Given the description of an element on the screen output the (x, y) to click on. 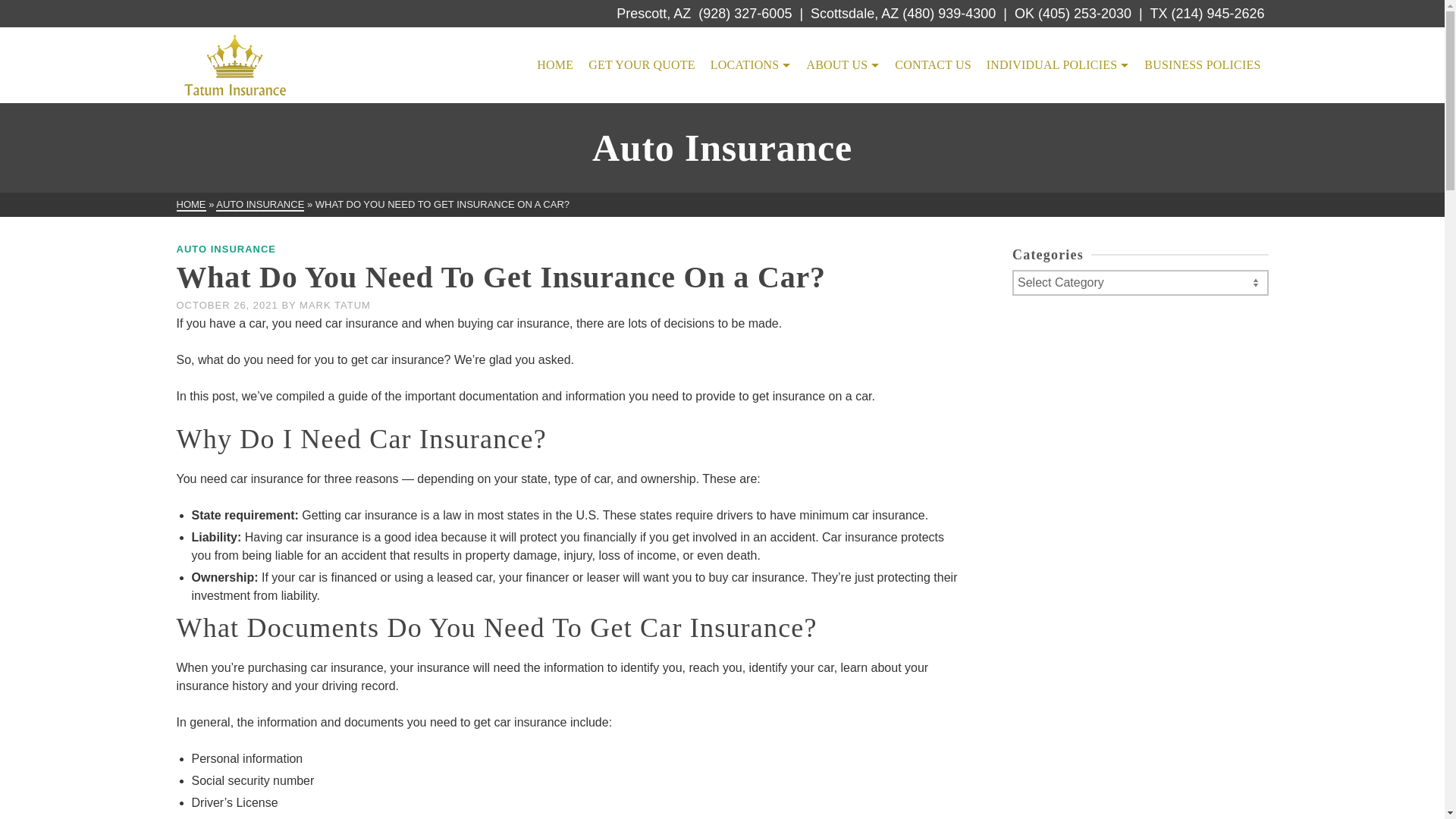
HOME (554, 64)
ABOUT US (841, 64)
HOME (190, 205)
GET YOUR QUOTE (641, 64)
INDIVIDUAL POLICIES (1057, 64)
CONTACT US (932, 64)
AUTO INSURANCE (259, 205)
LOCATIONS (751, 64)
MARK TATUM (335, 305)
AUTO INSURANCE (226, 248)
BUSINESS POLICIES (1202, 64)
